Given the description of an element on the screen output the (x, y) to click on. 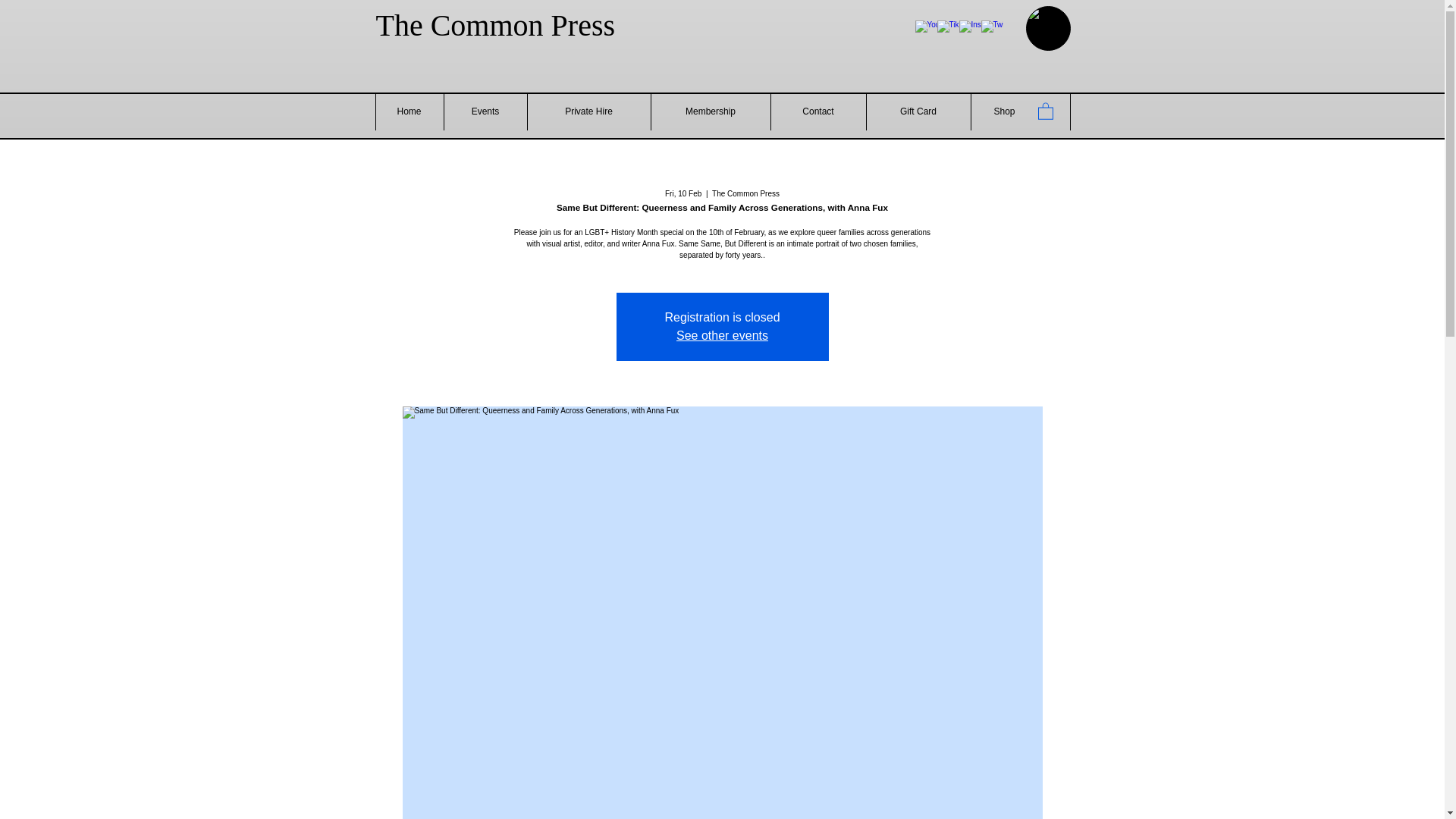
Shop (1004, 111)
Contact (818, 111)
Gift Card (918, 111)
Membership (710, 111)
Home (408, 111)
See other events (722, 335)
Private Hire (587, 111)
Events (483, 111)
The Common Press (495, 24)
